Given the description of an element on the screen output the (x, y) to click on. 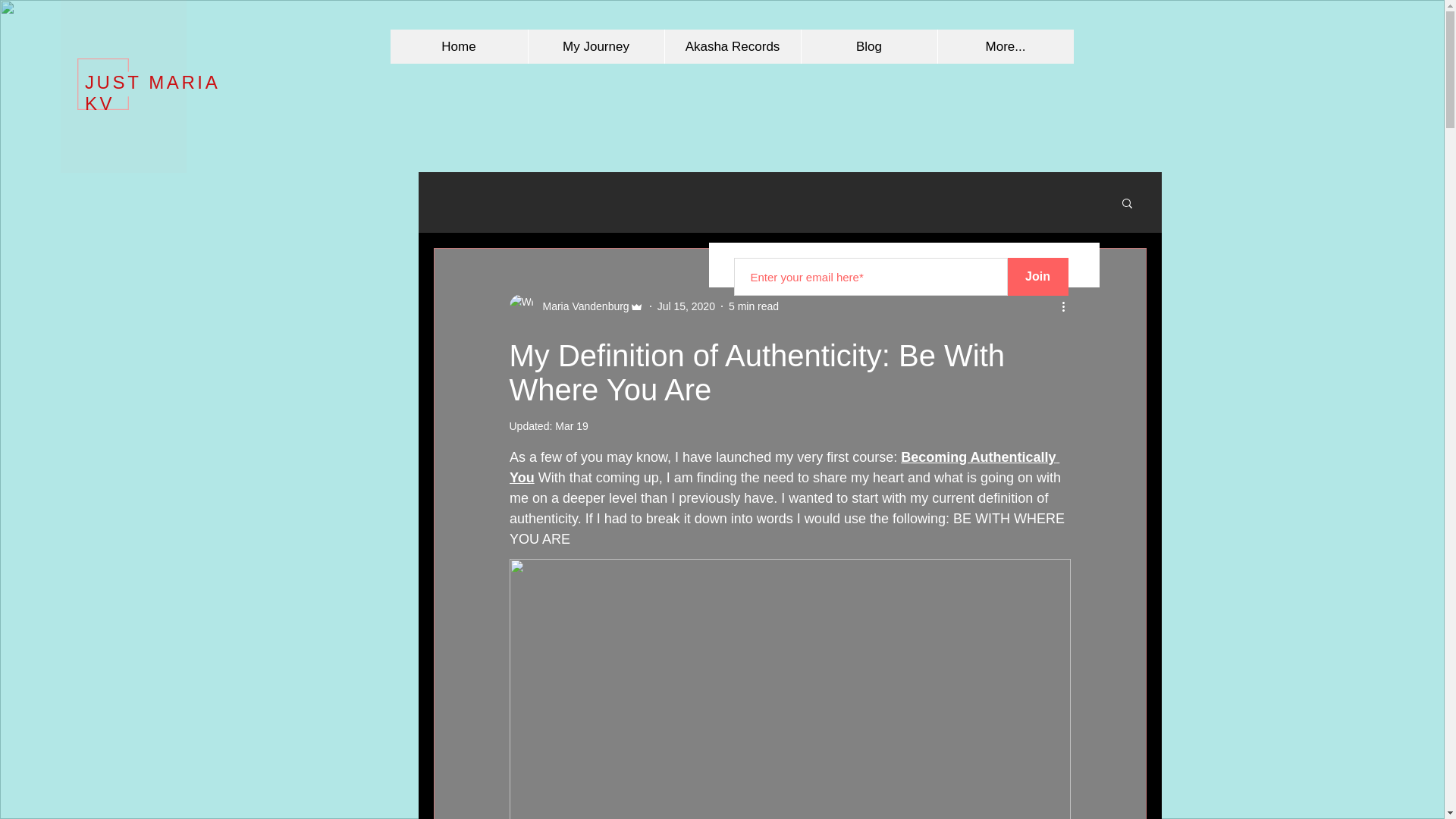
Join (1037, 276)
Akasha Records (731, 46)
5 min read (753, 306)
Mar 19 (571, 426)
JUST MARIA KV (151, 92)
Becoming Authentically You (784, 467)
Home (458, 46)
My Journey (595, 46)
Blog (868, 46)
Maria Vandenburg (581, 306)
Jul 15, 2020 (686, 306)
